Given the description of an element on the screen output the (x, y) to click on. 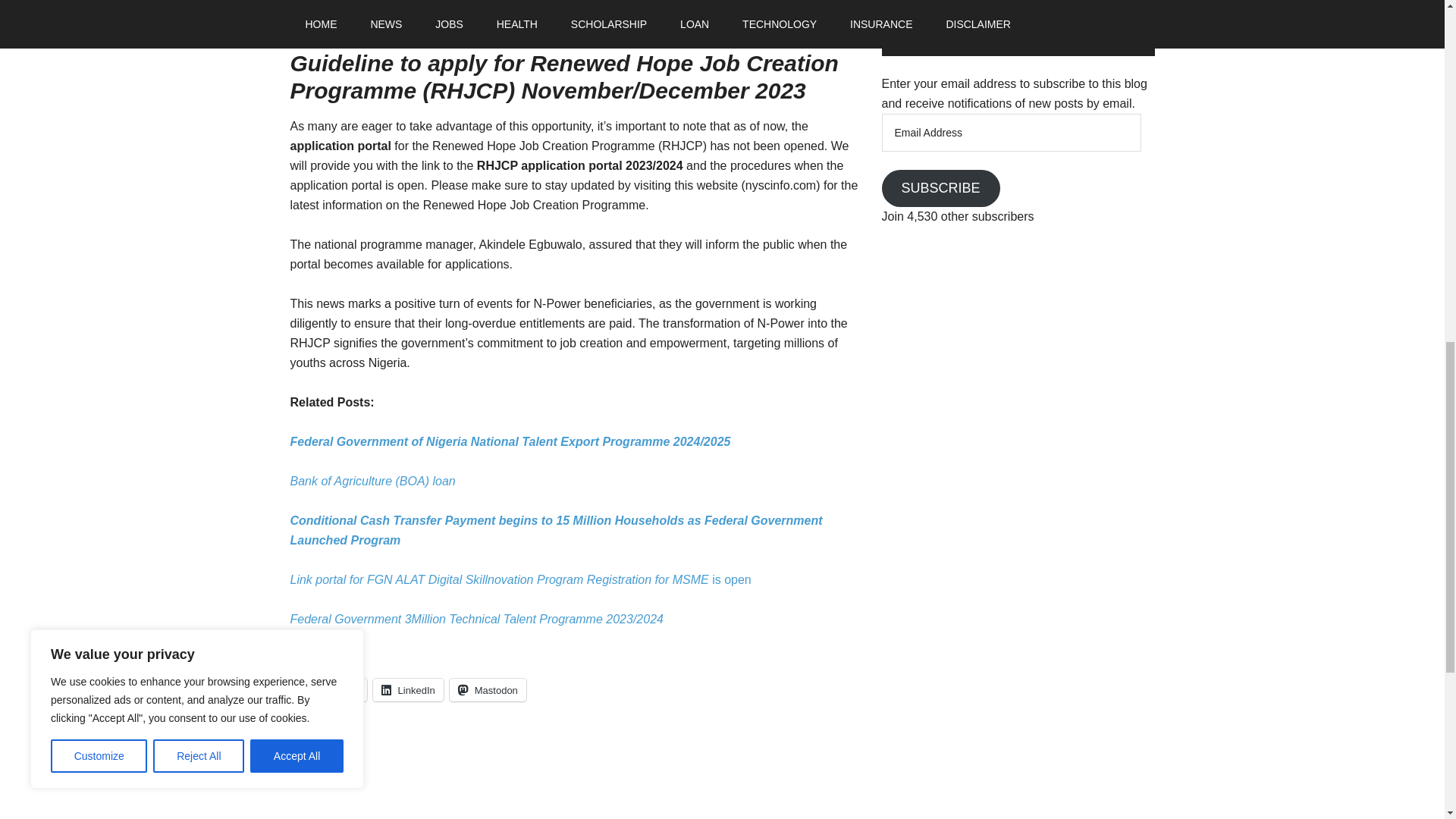
Click to share on LinkedIn (408, 689)
Click to share on Facebook (327, 689)
Click to share on Mastodon (487, 689)
